Given the description of an element on the screen output the (x, y) to click on. 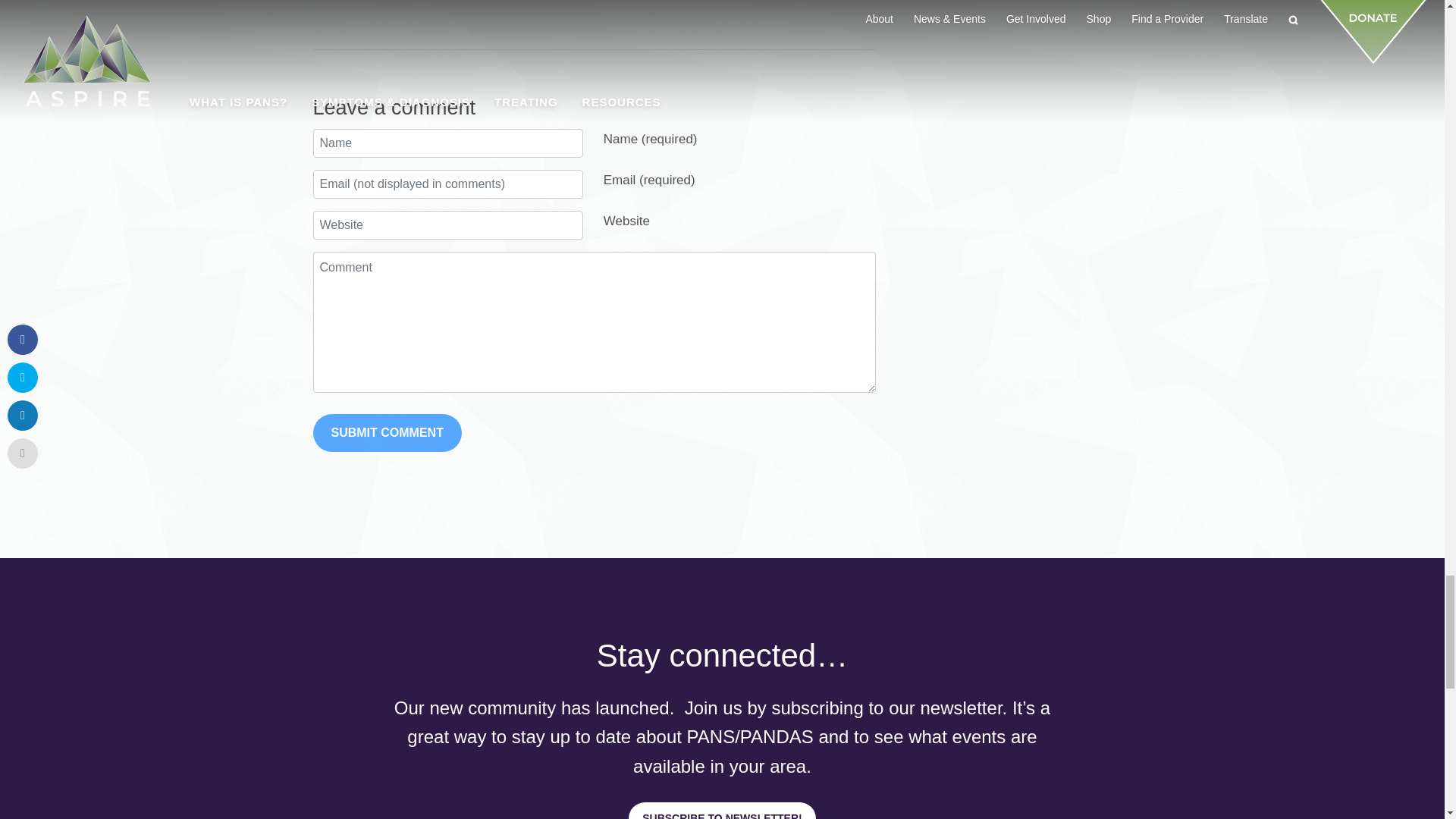
Submit Comment (387, 433)
